Given the description of an element on the screen output the (x, y) to click on. 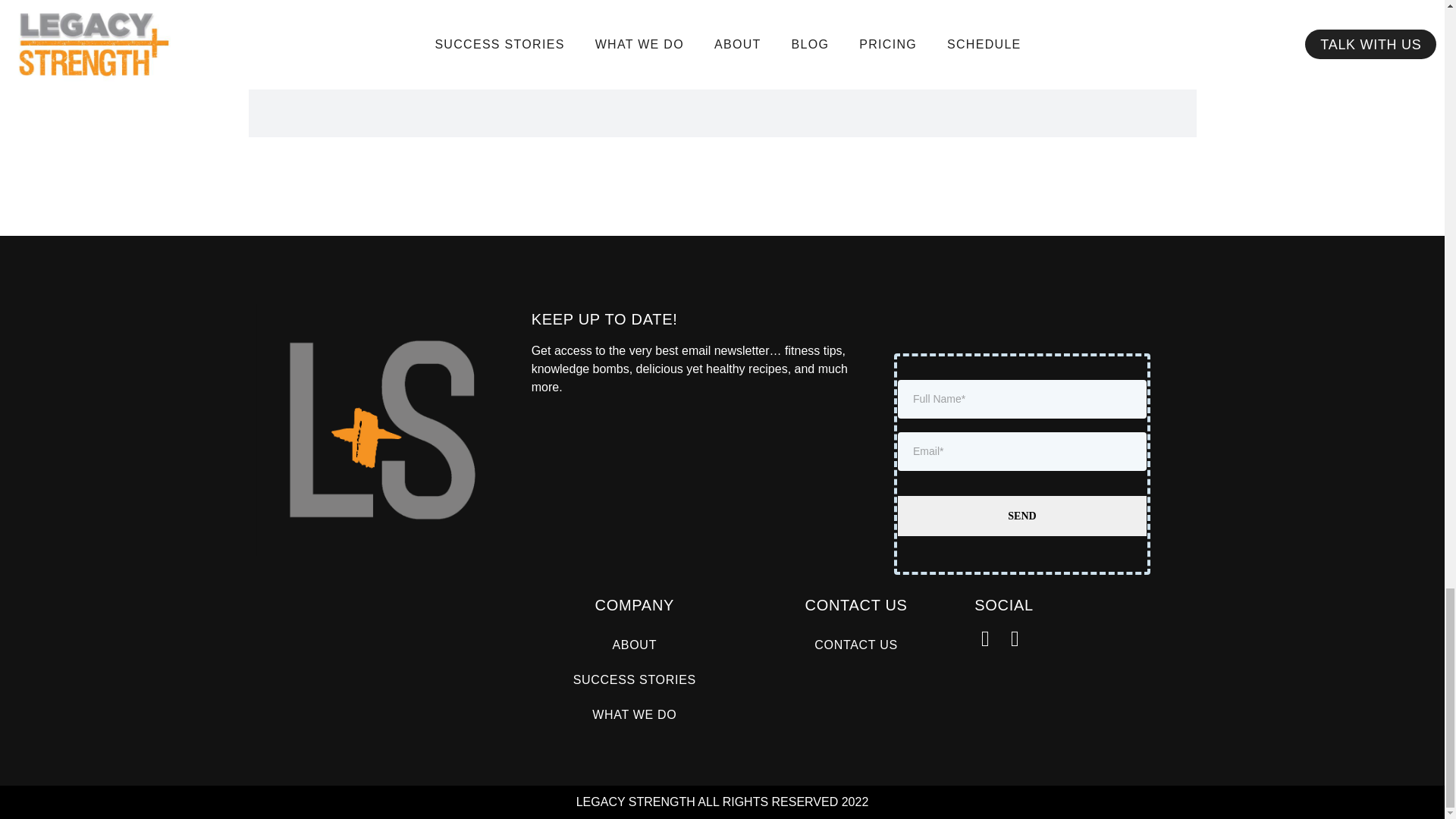
SUCCESS STORIES (634, 679)
WHAT WE DO (634, 714)
CONTACT US (855, 645)
ABOUT (634, 645)
